Given the description of an element on the screen output the (x, y) to click on. 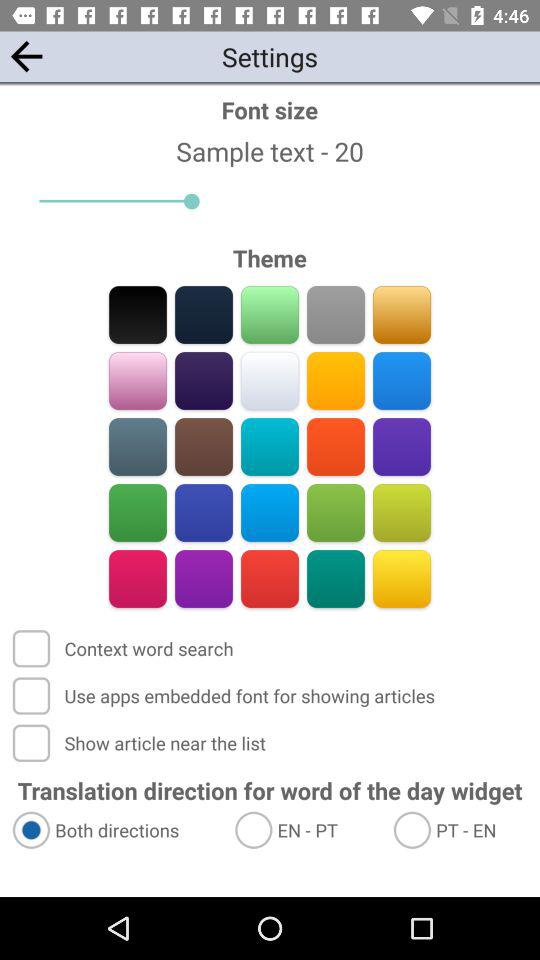
turn on the item below translation direction for item (114, 829)
